Given the description of an element on the screen output the (x, y) to click on. 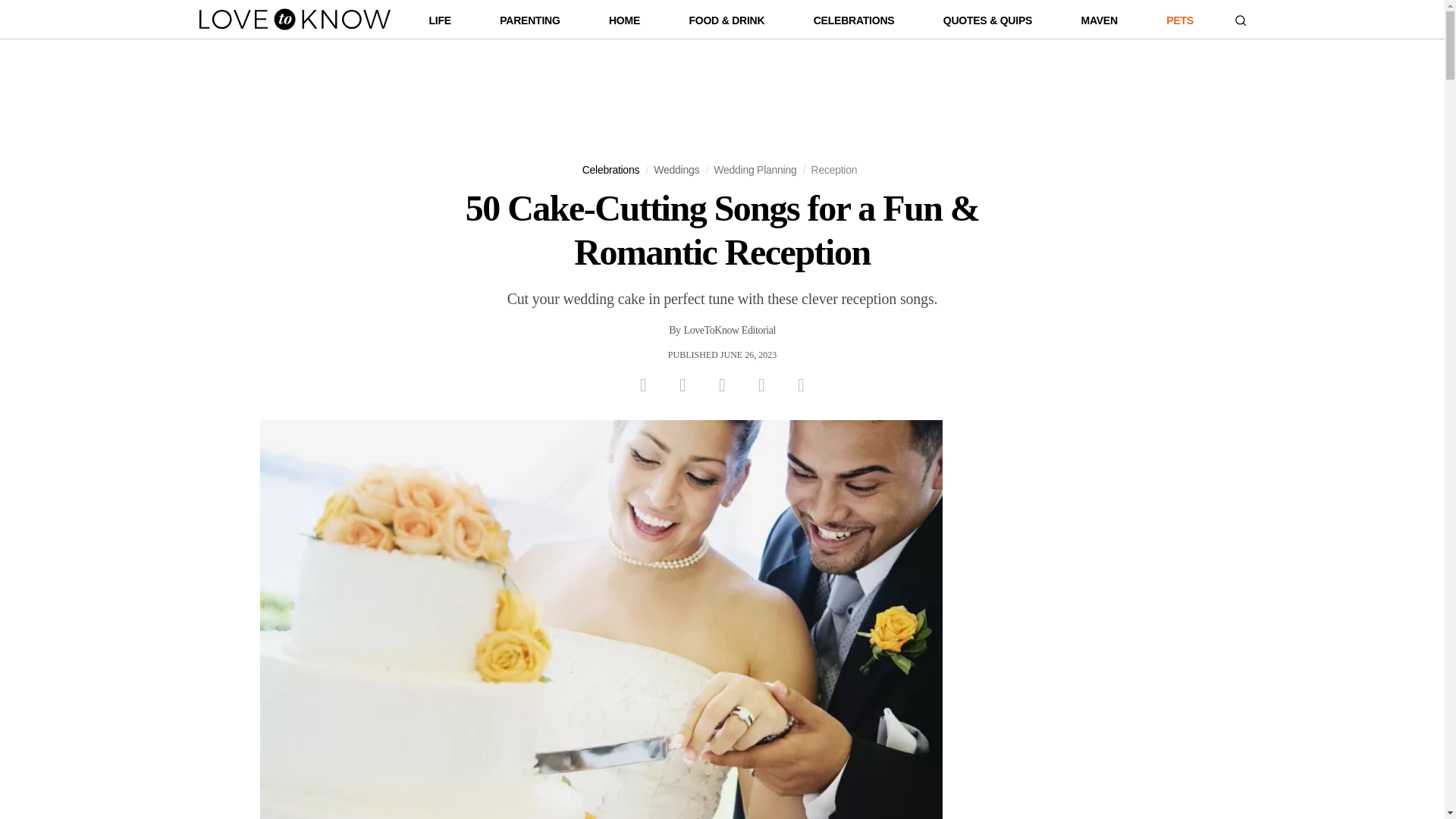
Copy Link (800, 384)
HOME (624, 23)
LIFE (439, 23)
Share on Twitter (681, 384)
LoveToKnow Editorial (730, 330)
PARENTING (529, 23)
Share on Pinterest (721, 384)
Share via Email (760, 384)
Share on Facebook (642, 384)
